Given the description of an element on the screen output the (x, y) to click on. 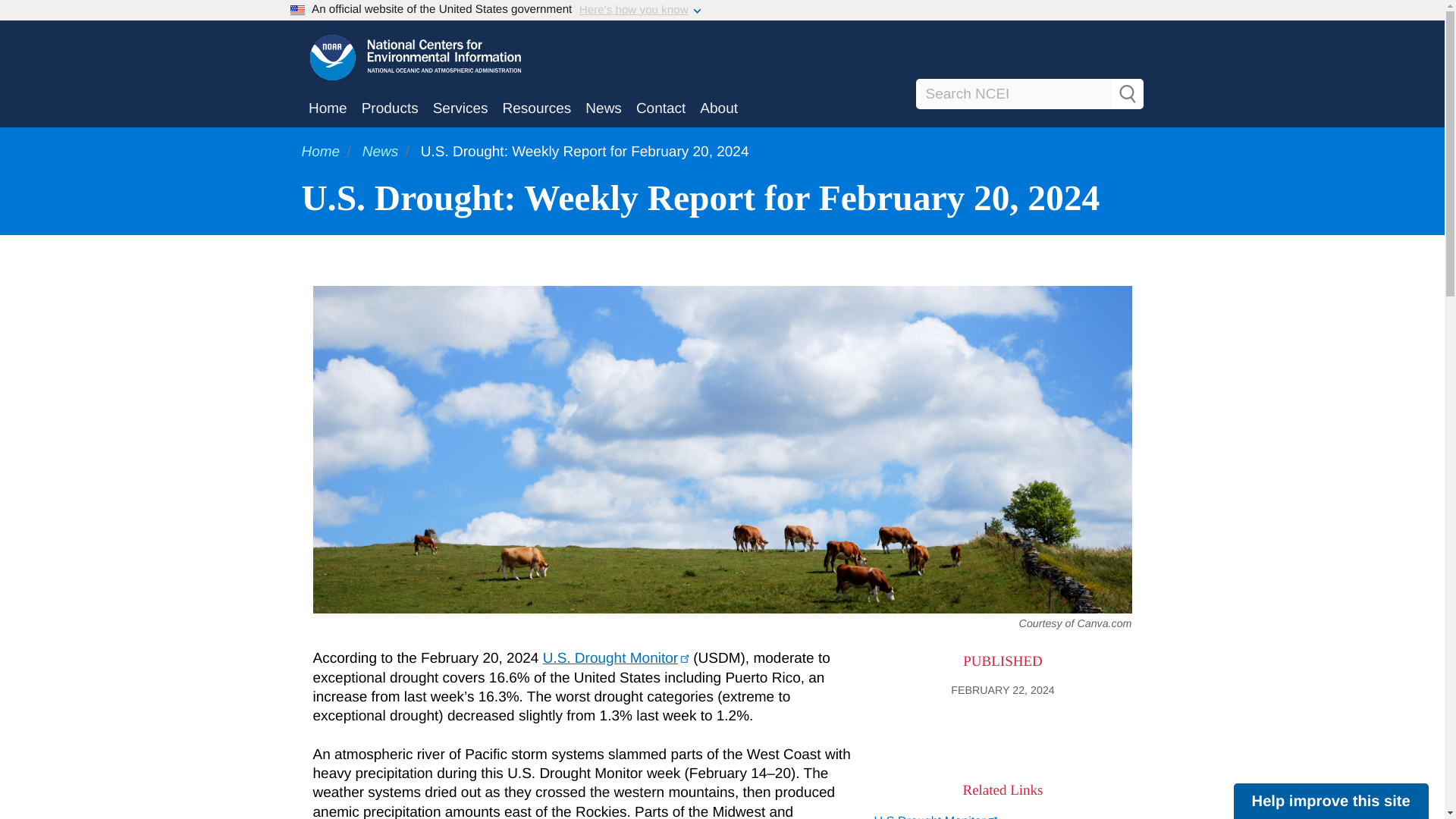
Resources (536, 108)
Click to run NCEI search (1126, 94)
Home (328, 108)
Here's how you know (633, 10)
About (719, 108)
News (380, 151)
Home (320, 151)
Search NCEI (1028, 93)
News (603, 108)
